Given the description of an element on the screen output the (x, y) to click on. 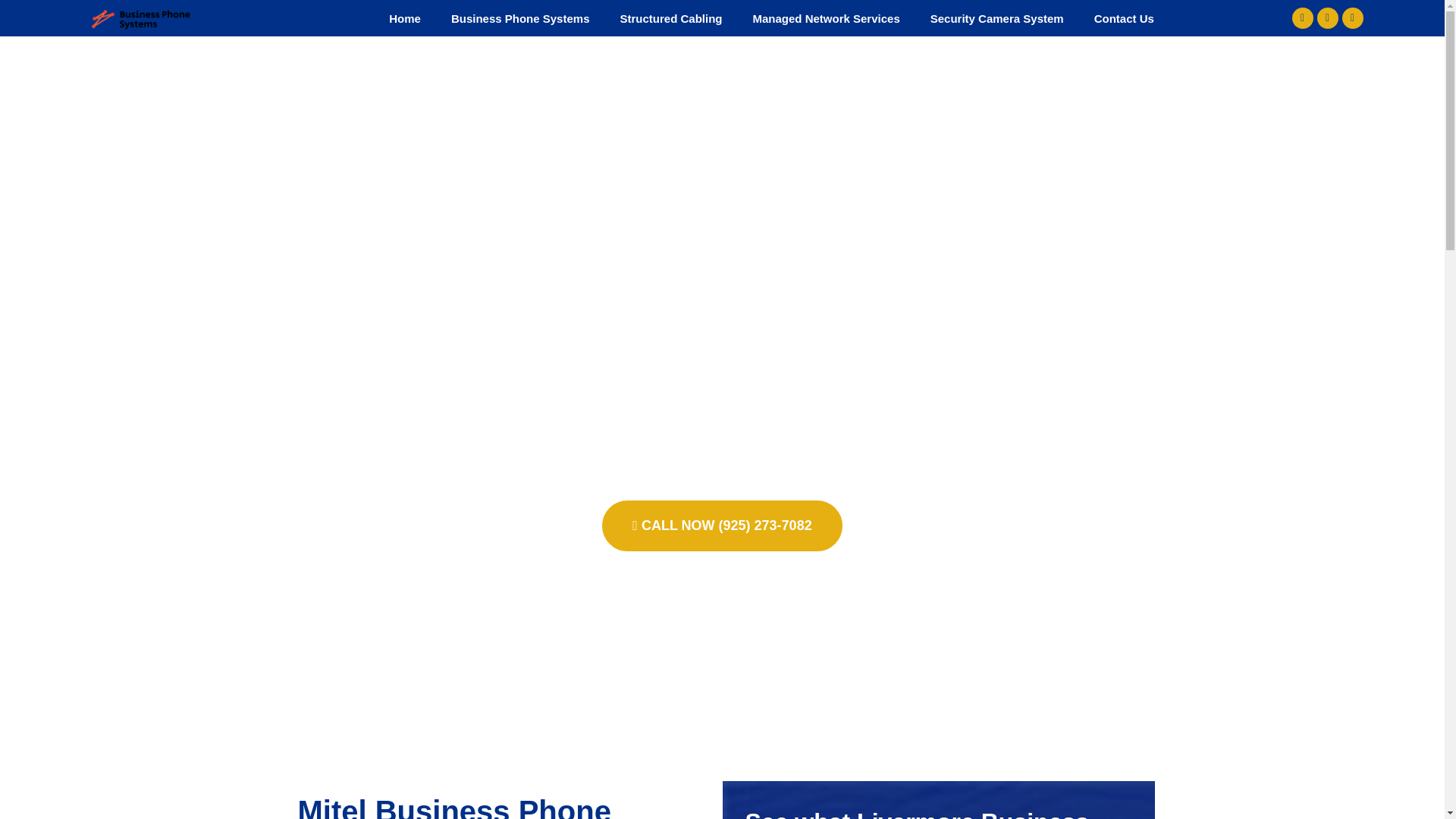
Structured Cabling (670, 18)
Business Phone Systems (520, 18)
Managed Network Services (825, 18)
Security Camera System (996, 18)
Contact Us (1123, 18)
Home (404, 18)
